Given the description of an element on the screen output the (x, y) to click on. 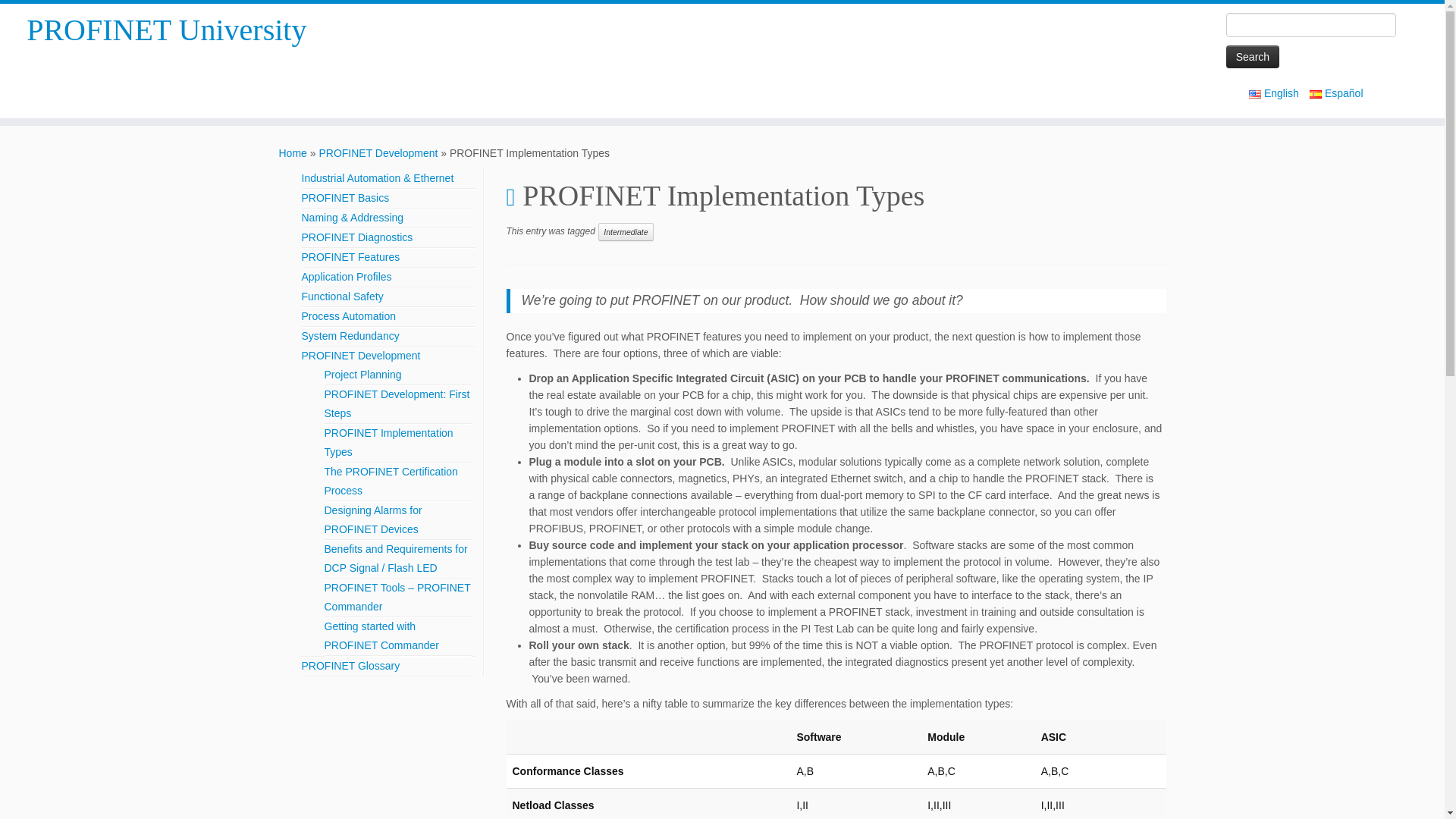
PROFINET Basics (345, 197)
PROFINET Glossary (350, 665)
The PROFINET Certification Process (391, 481)
Home (293, 152)
PROFINET University (293, 152)
Application Profiles (346, 276)
Project Planning (362, 374)
PROFINET Implementation Types (388, 441)
System Redundancy (349, 336)
Search (1252, 56)
